Given the description of an element on the screen output the (x, y) to click on. 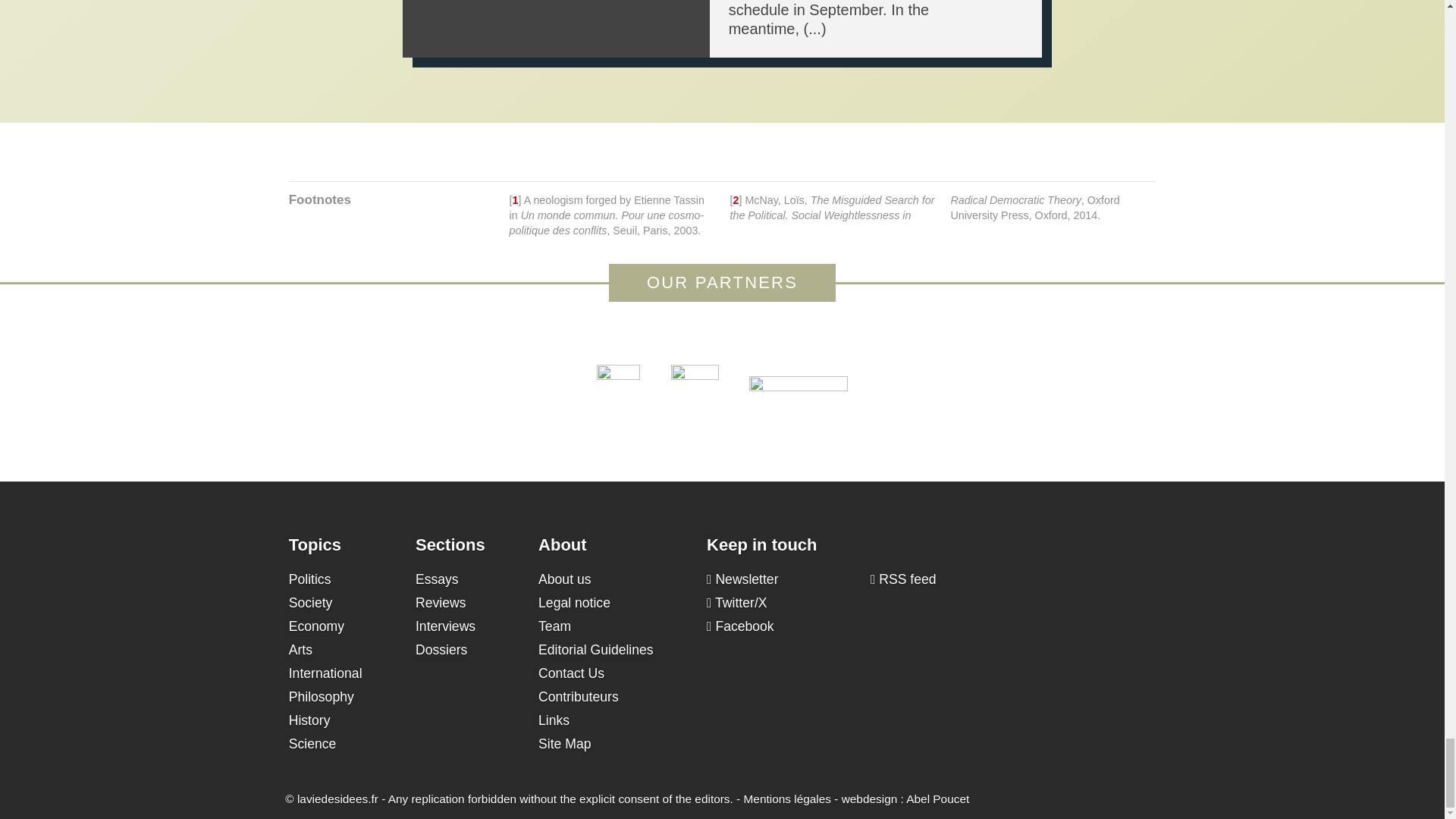
mentions legales (786, 798)
casbs  (618, 387)
facebook (740, 626)
afsp (693, 387)
twitter (736, 602)
Syndicate the whole site (903, 579)
Cairn.info (798, 386)
